Given the description of an element on the screen output the (x, y) to click on. 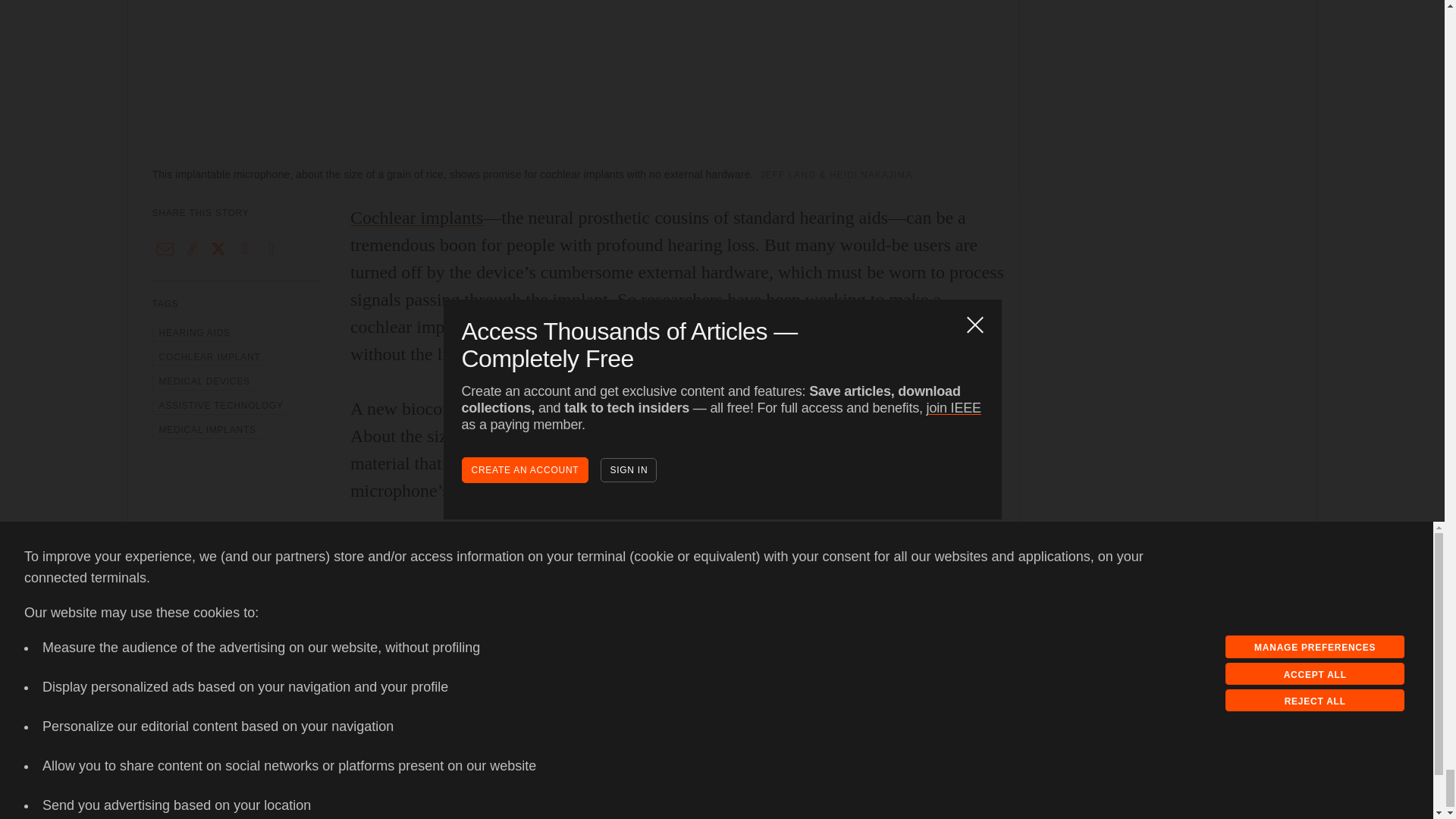
Copy this link to clipboard (192, 248)
